Given the description of an element on the screen output the (x, y) to click on. 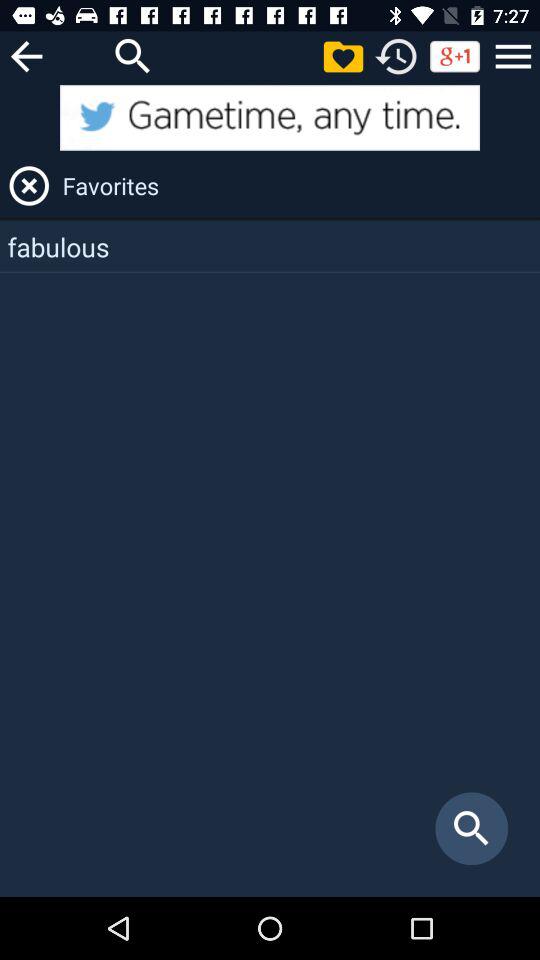
turn on the item next to favorites (29, 185)
